Given the description of an element on the screen output the (x, y) to click on. 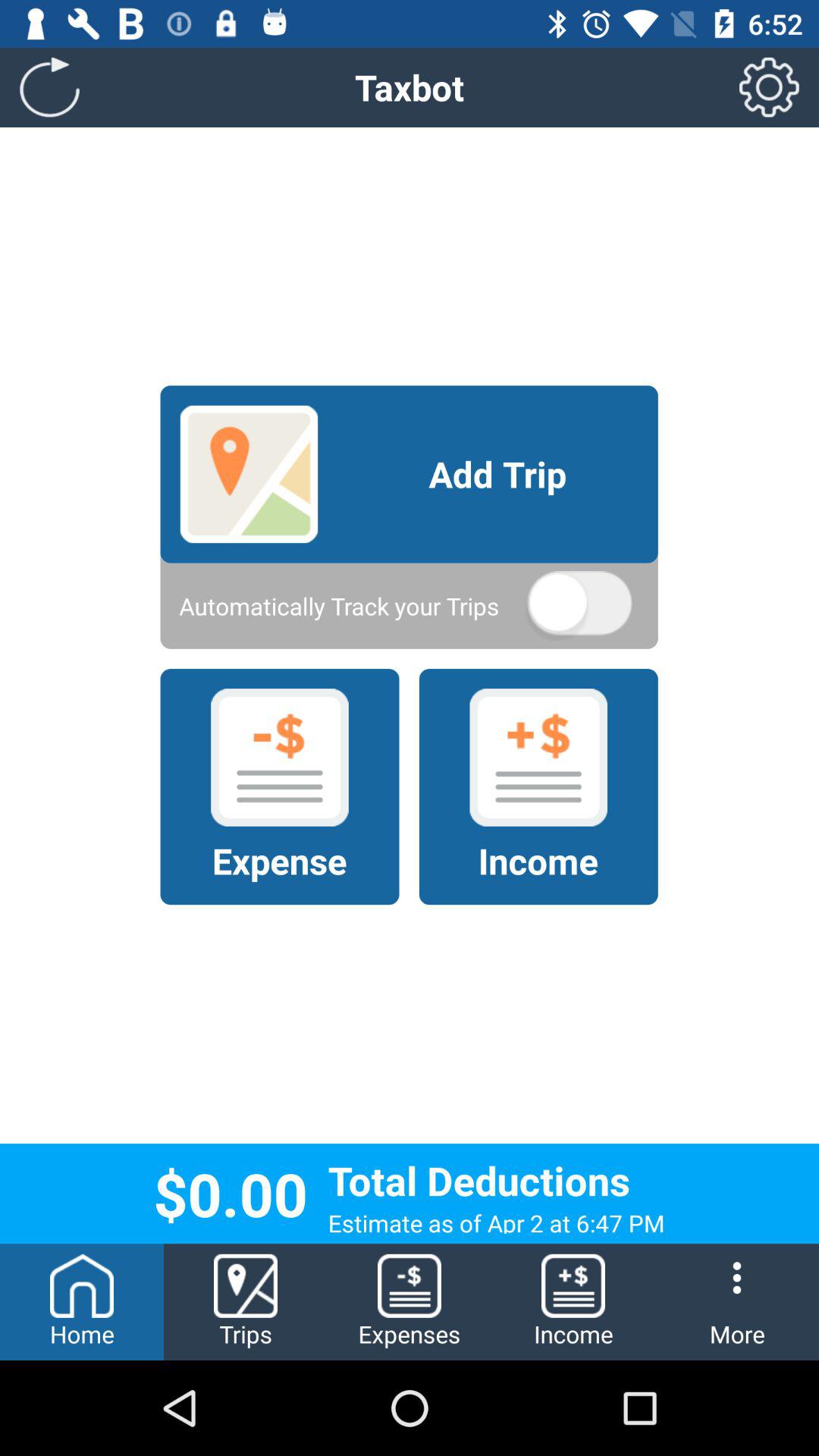
choose home item (81, 1301)
